Given the description of an element on the screen output the (x, y) to click on. 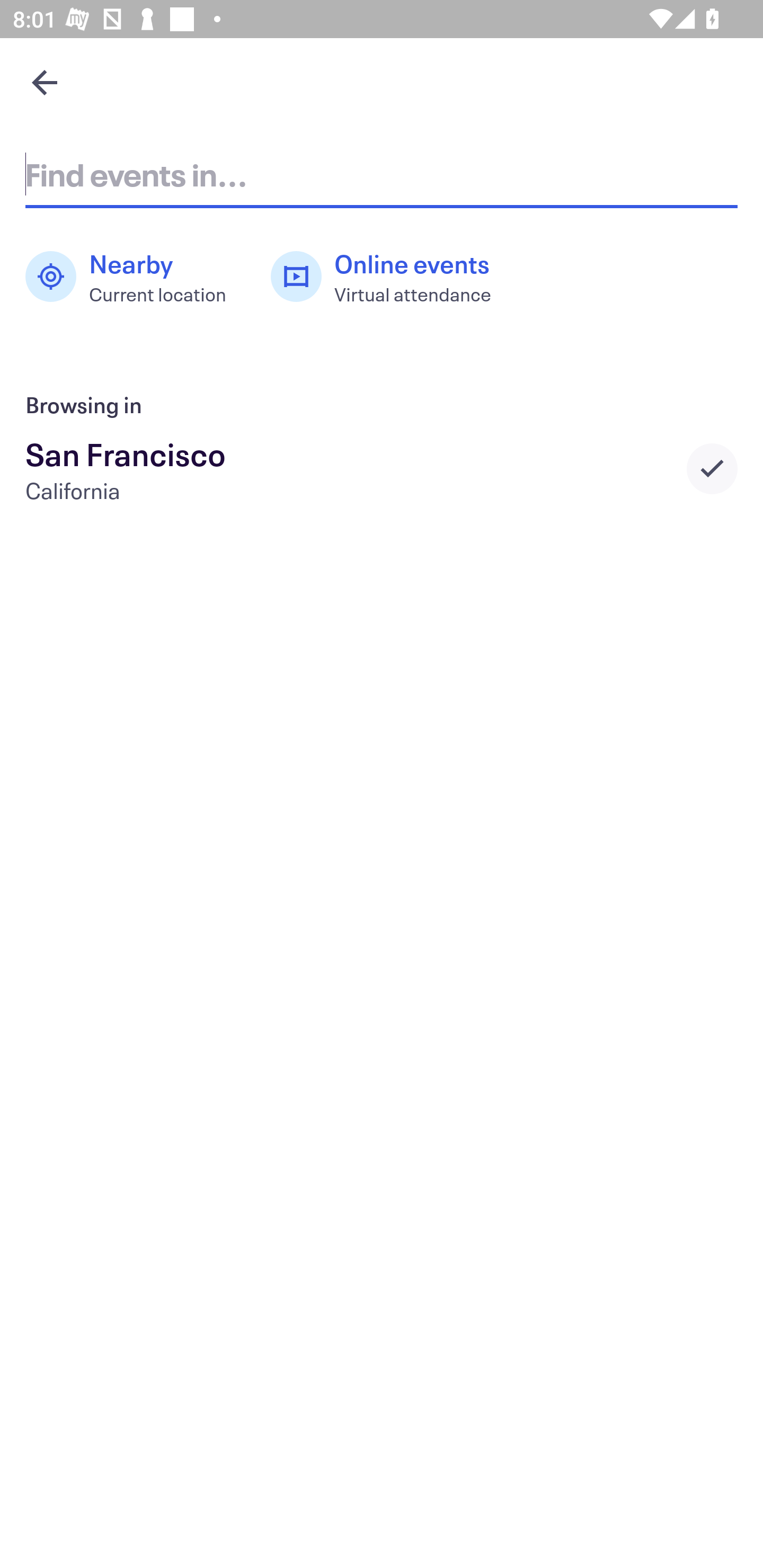
Navigate up (44, 82)
Find events in... (381, 173)
Nearby Current location (135, 276)
Online events Virtual attendance (390, 276)
San Francisco California Selected city (381, 468)
